Given the description of an element on the screen output the (x, y) to click on. 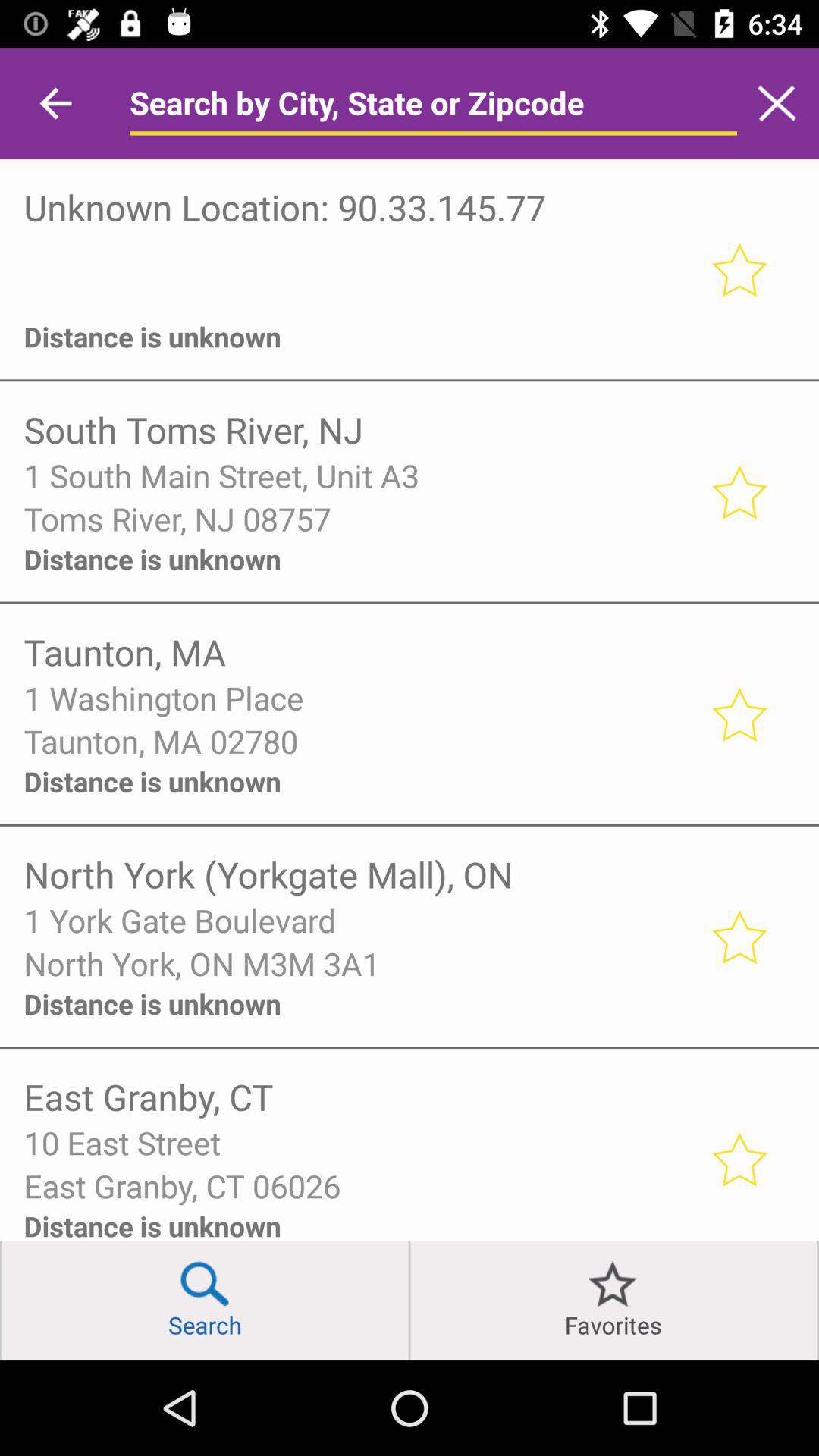
star rating (738, 491)
